Given the description of an element on the screen output the (x, y) to click on. 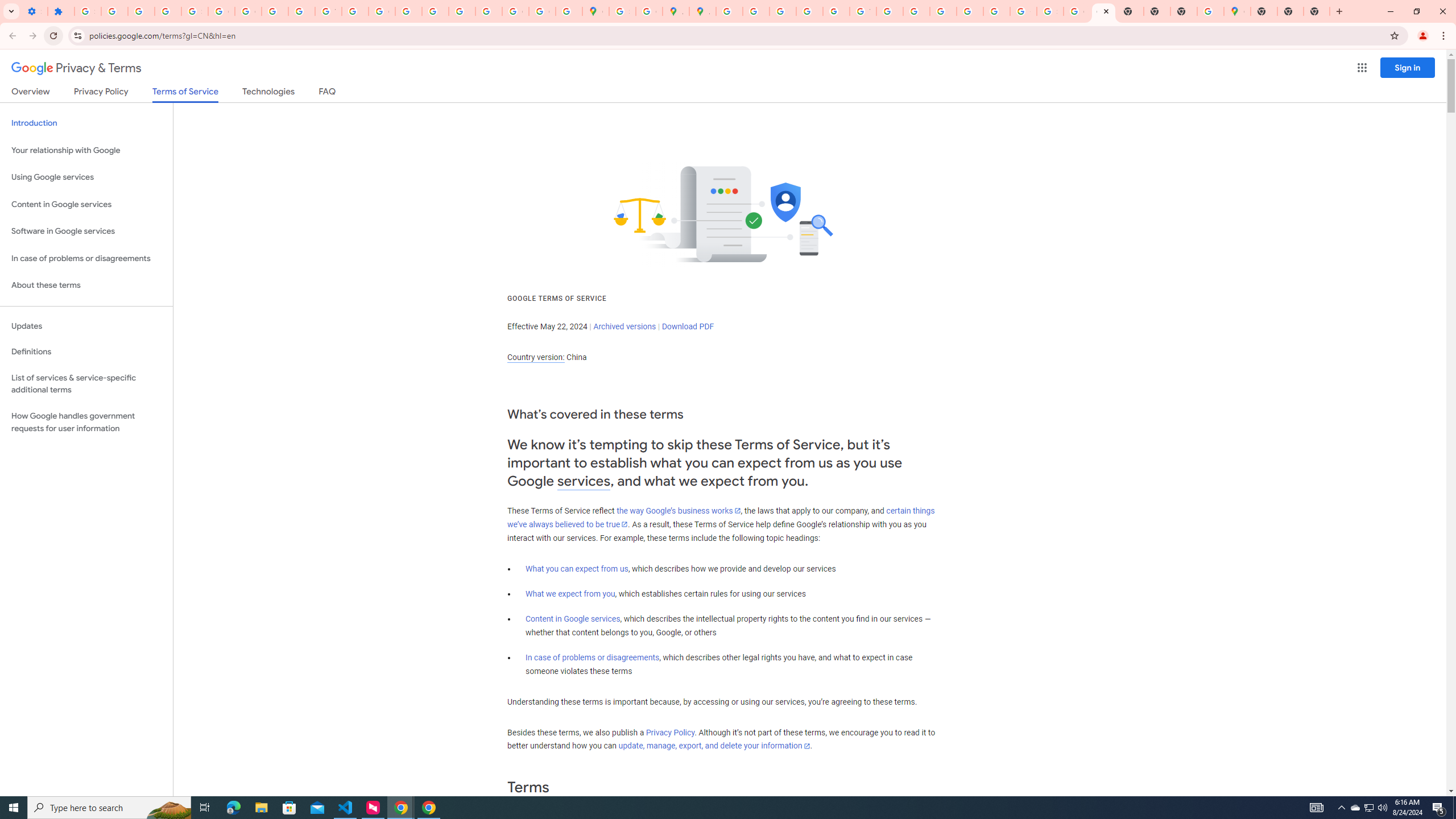
How Google handles government requests for user information (86, 422)
Software in Google services (86, 230)
Privacy Help Center - Policies Help (782, 11)
Sign in - Google Accounts (622, 11)
Create your Google Account (649, 11)
Policy Accountability and Transparency - Transparency Center (729, 11)
update, manage, export, and delete your information (714, 746)
